Given the description of an element on the screen output the (x, y) to click on. 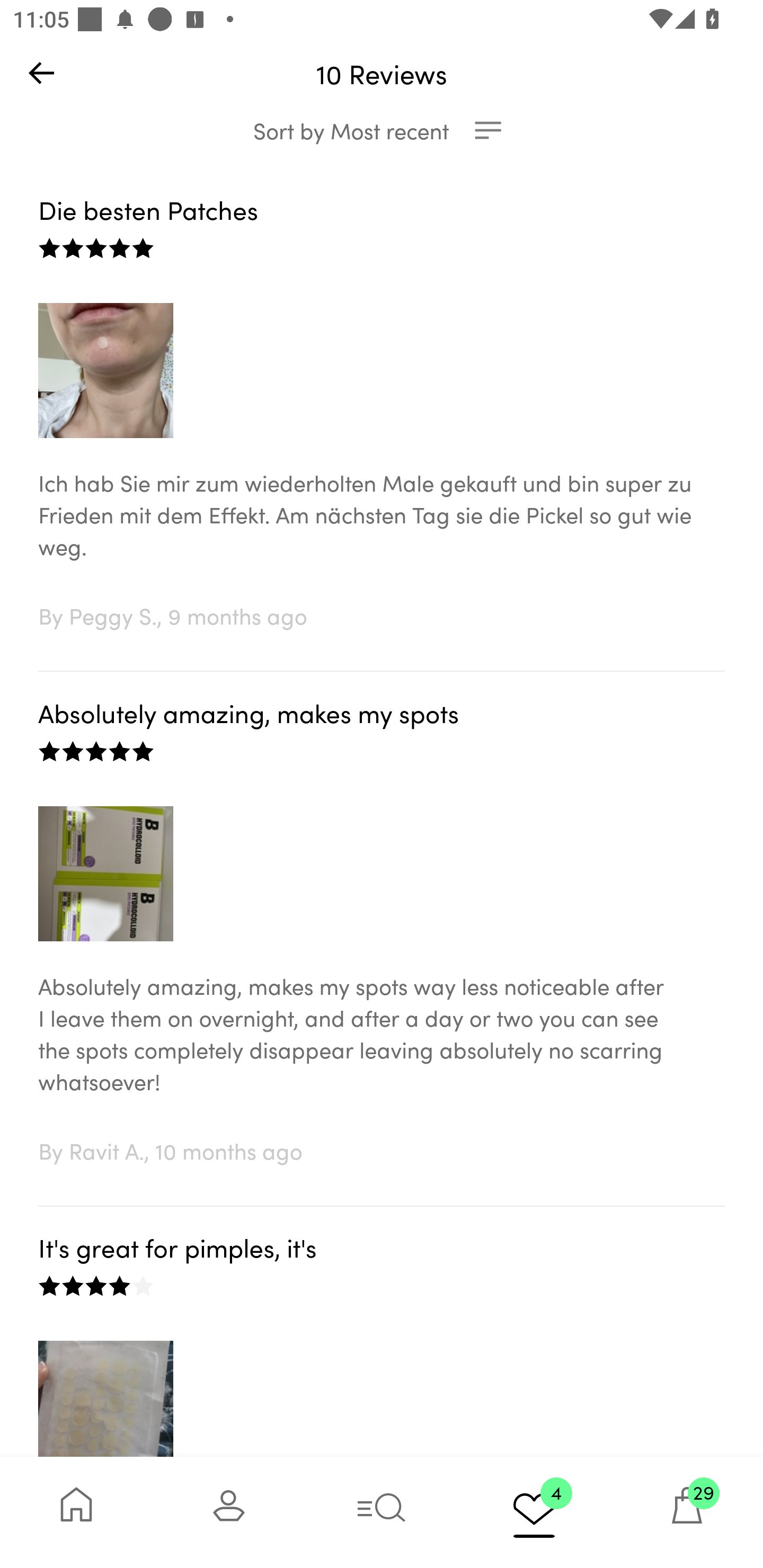
Sort by Most recent (381, 130)
4 (533, 1512)
29 (686, 1512)
